Given the description of an element on the screen output the (x, y) to click on. 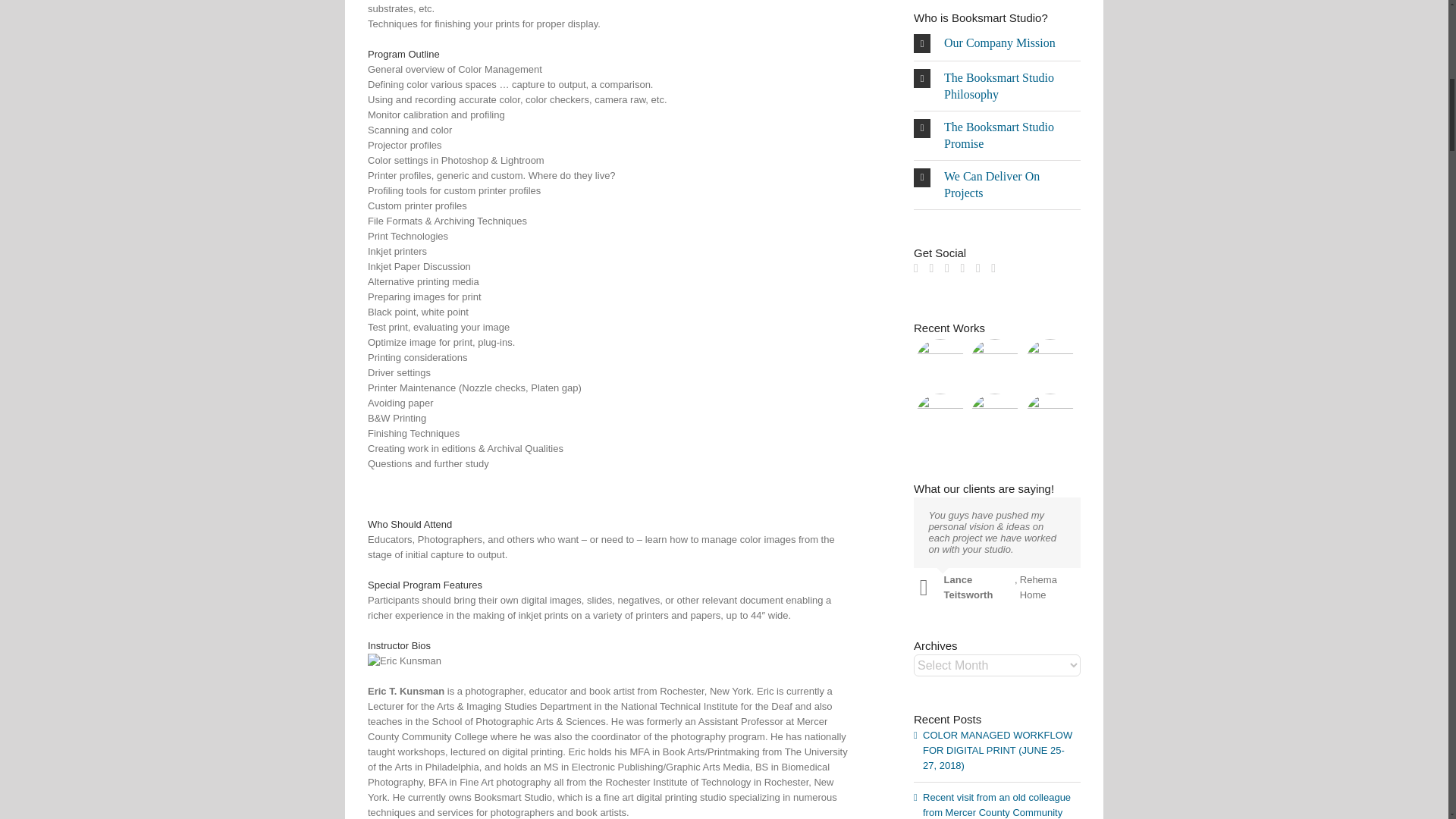
Eric Kunsman (404, 661)
